Given the description of an element on the screen output the (x, y) to click on. 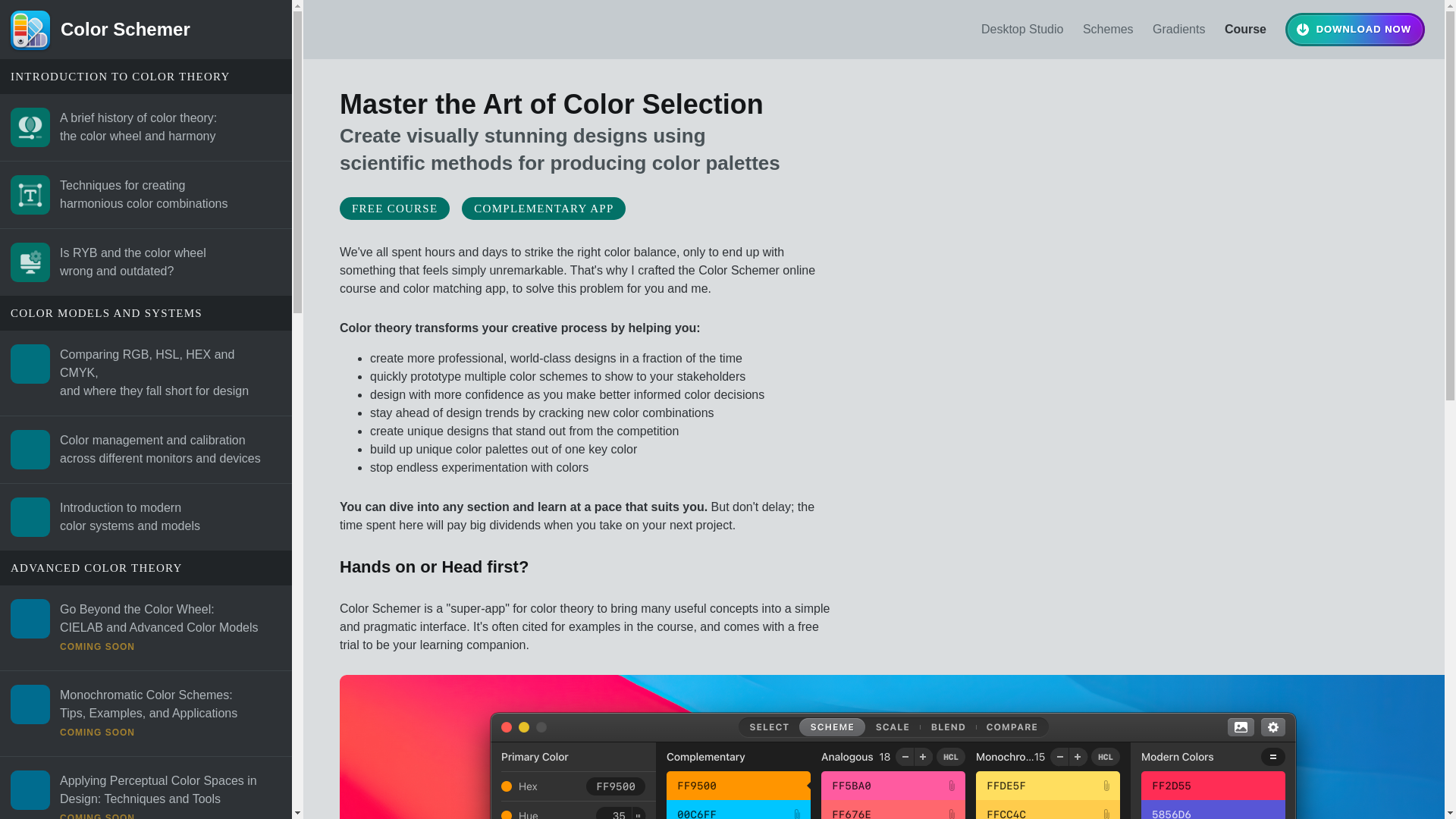
Gradients (146, 262)
Course (146, 127)
Schemes (1187, 29)
Desktop Studio (1253, 29)
Color Schemer (146, 195)
